Given the description of an element on the screen output the (x, y) to click on. 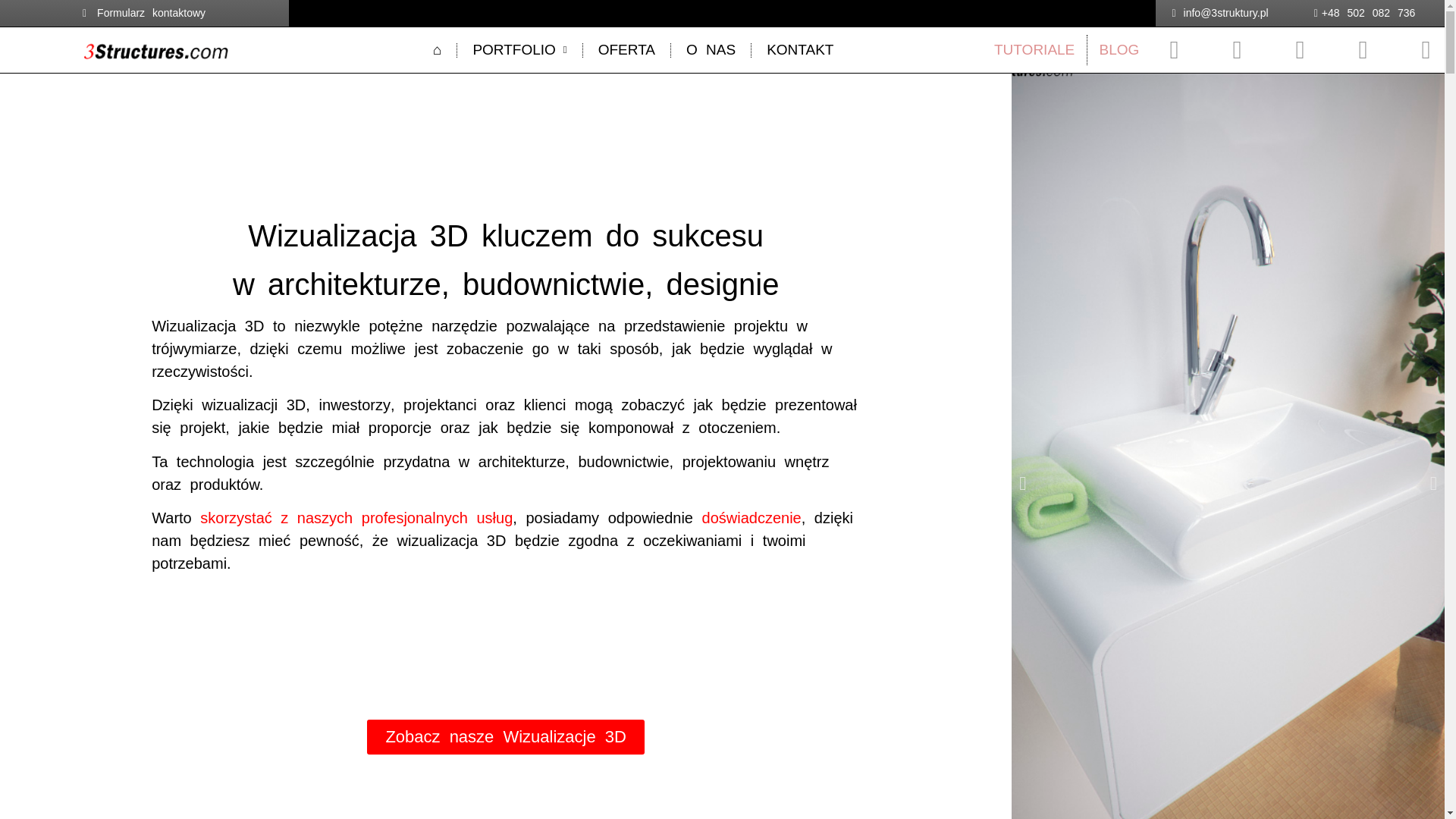
O NAS Element type: text (710, 49)
+48 502 082 736 Element type: text (1364, 13)
KONTAKT Element type: text (799, 49)
Formularz kontaktowy Element type: text (143, 13)
info@3struktury.pl Element type: text (1219, 13)
PORTFOLIO Element type: text (519, 49)
OFERTA Element type: text (626, 49)
Zobacz nasze Wizualizacje 3D Element type: text (505, 736)
TUTORIALE Element type: text (1034, 49)
BLOG Element type: text (1119, 49)
